Given the description of an element on the screen output the (x, y) to click on. 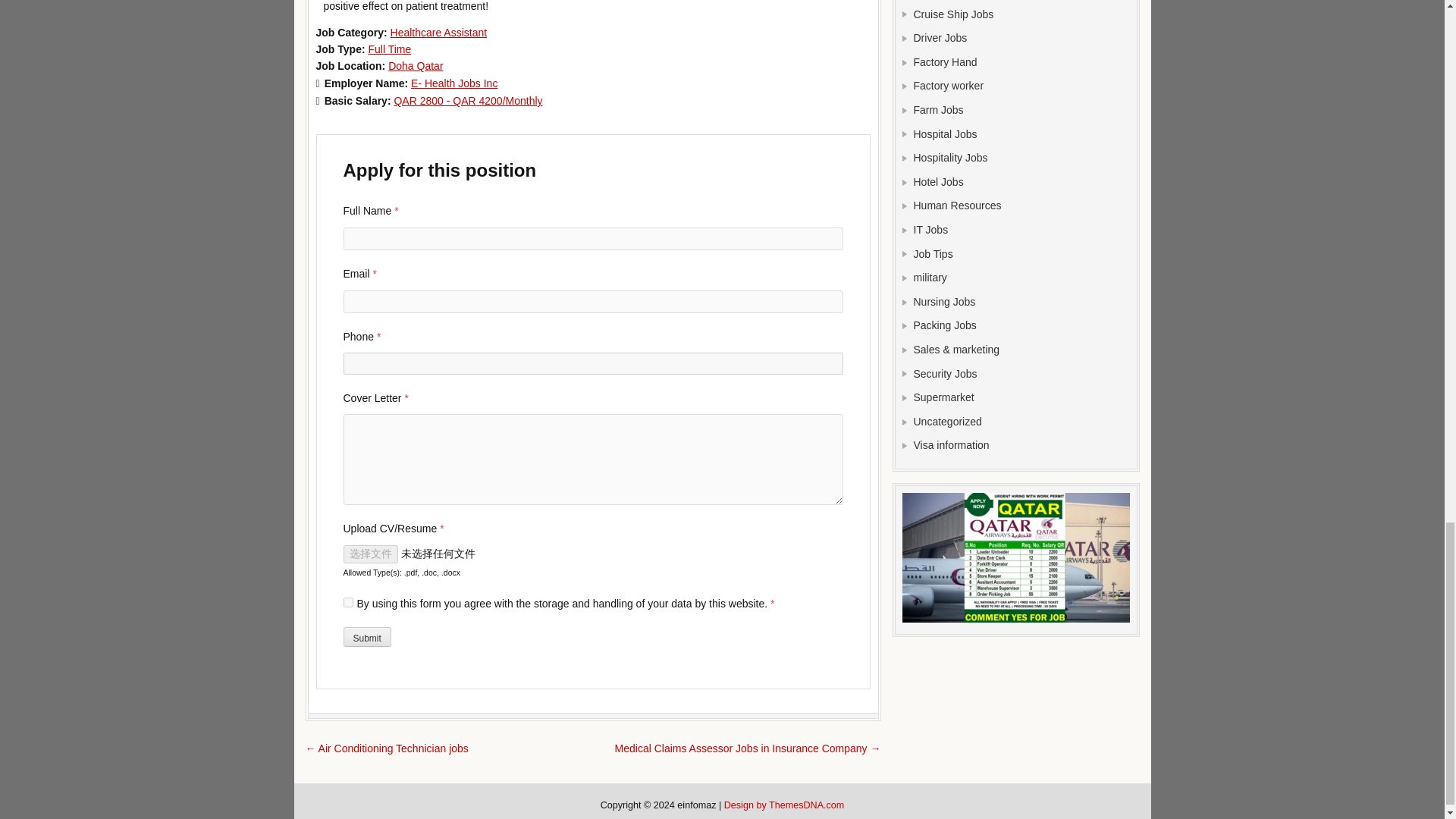
Submit (366, 637)
Submit (366, 637)
Doha Qatar (415, 65)
E- Health Jobs Inc (453, 82)
Healthcare Assistant (438, 32)
yes (347, 602)
Full Time (389, 49)
